Given the description of an element on the screen output the (x, y) to click on. 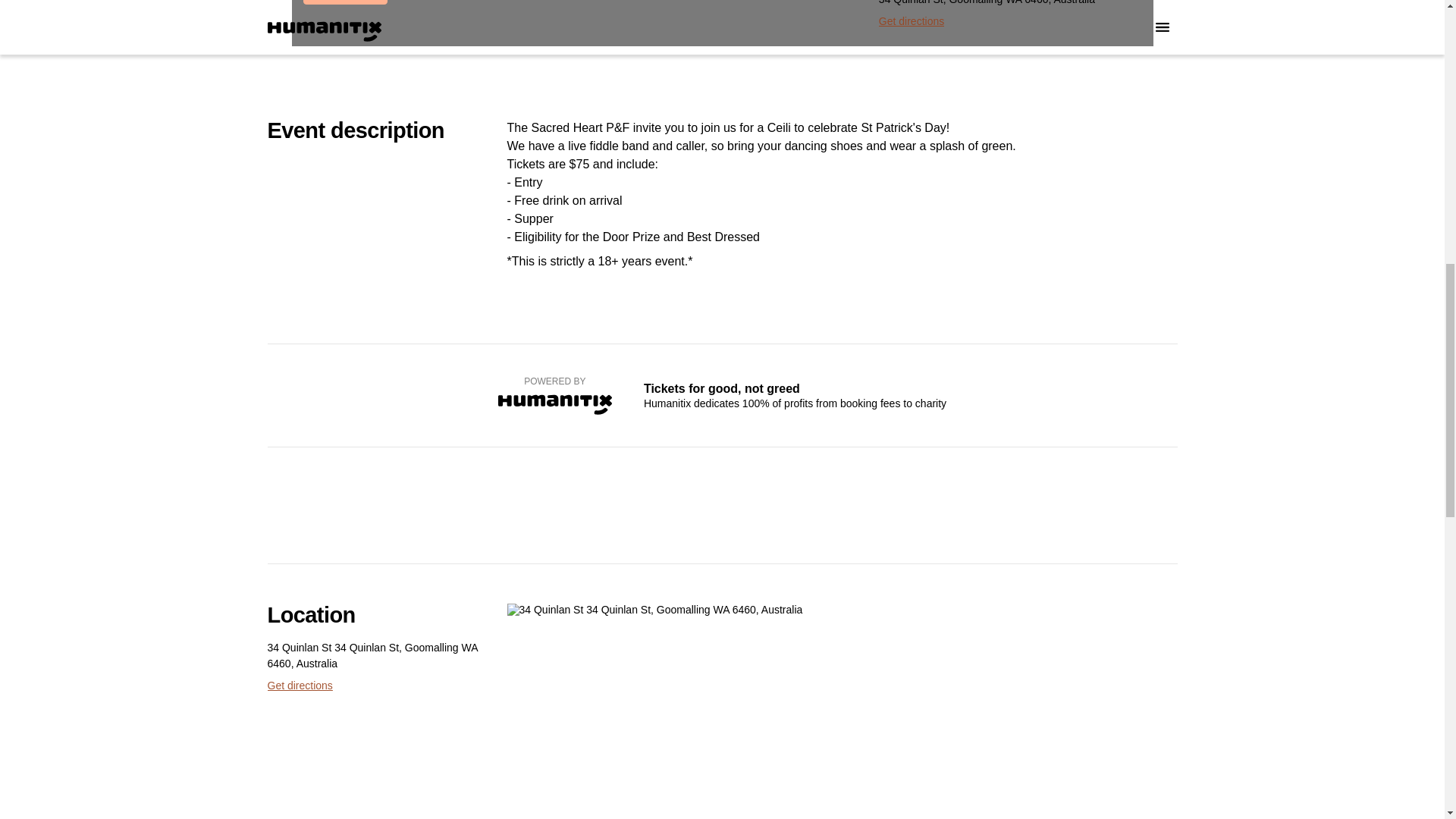
Get directions (911, 21)
Follow (417, 2)
Get directions (298, 685)
